Given the description of an element on the screen output the (x, y) to click on. 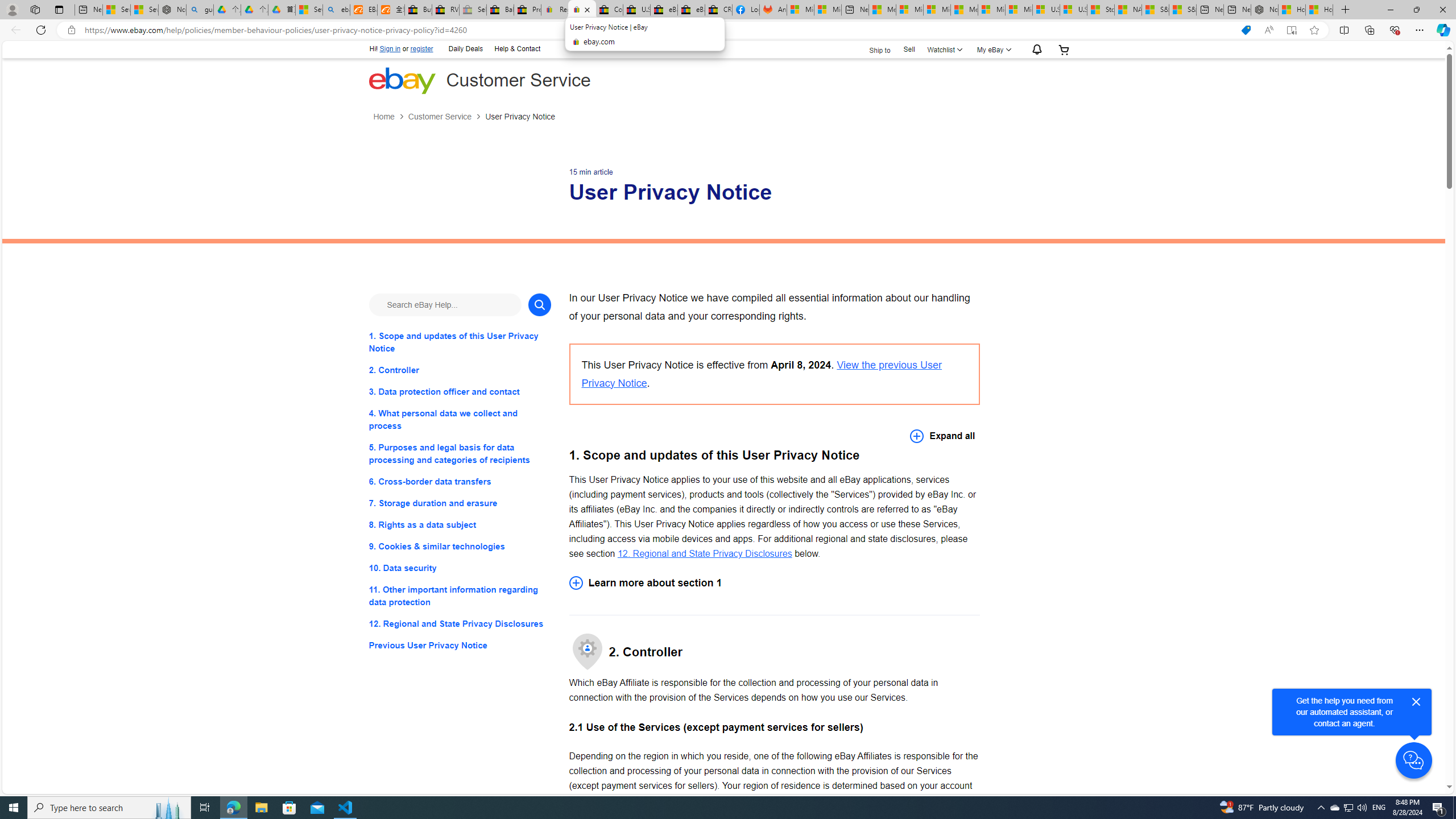
Ship to (872, 50)
register (421, 49)
Previous User Privacy Notice (459, 645)
Daily Deals (465, 48)
eBay Home (401, 80)
12. Regional and State Privacy Disclosures (704, 552)
8. Rights as a data subject (459, 524)
